Given the description of an element on the screen output the (x, y) to click on. 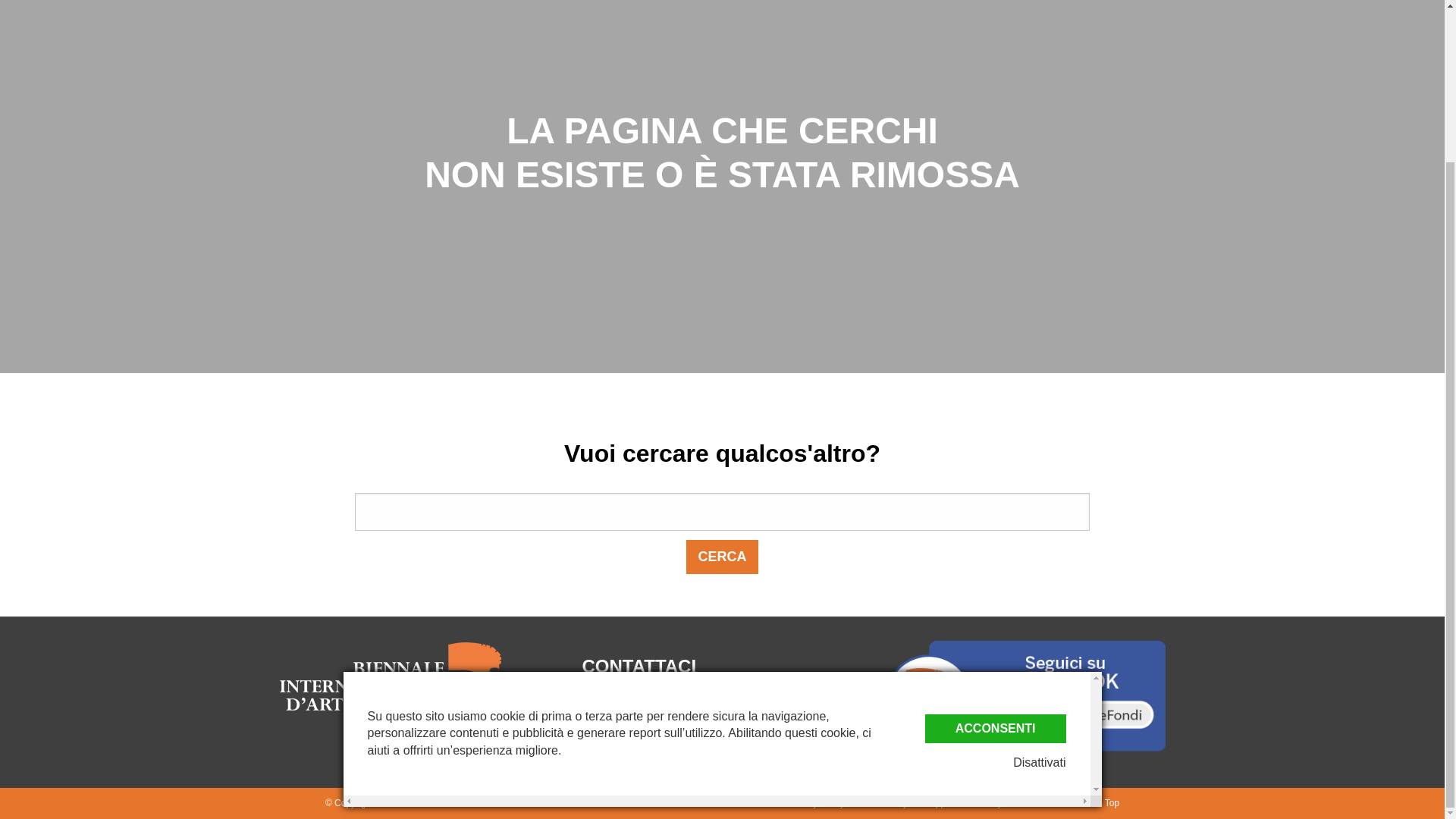
Cookie Policy (879, 802)
Privacy Policy (815, 802)
Cookie Policy (879, 802)
Privacy Policy (815, 802)
Cerca (721, 556)
Cerca (721, 556)
